Given the description of an element on the screen output the (x, y) to click on. 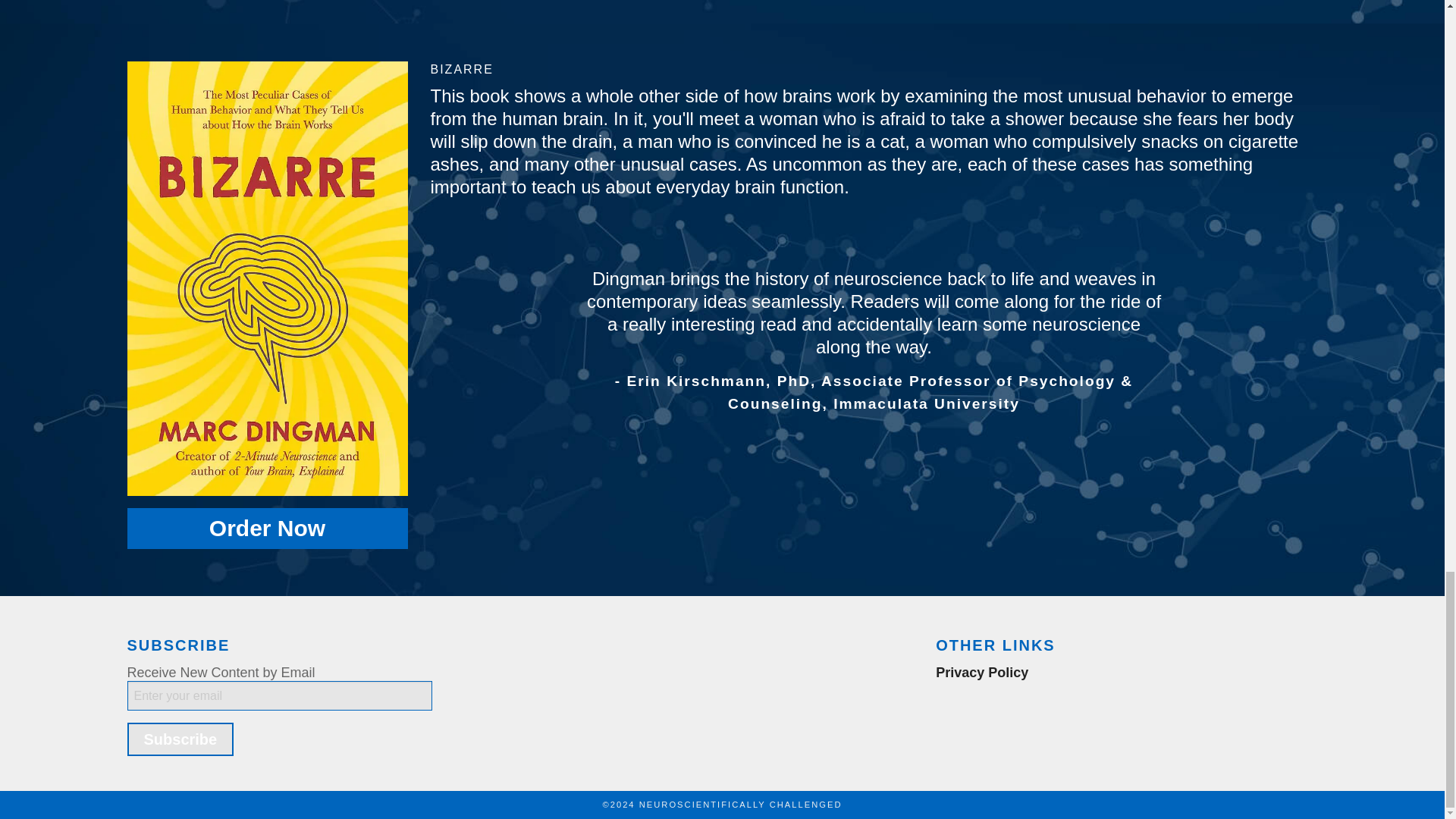
Subscribe (181, 738)
Next Slide (1305, 363)
Order Now (267, 527)
Privacy Policy (981, 672)
Subscribe (181, 738)
Previous Slide (442, 363)
